Given the description of an element on the screen output the (x, y) to click on. 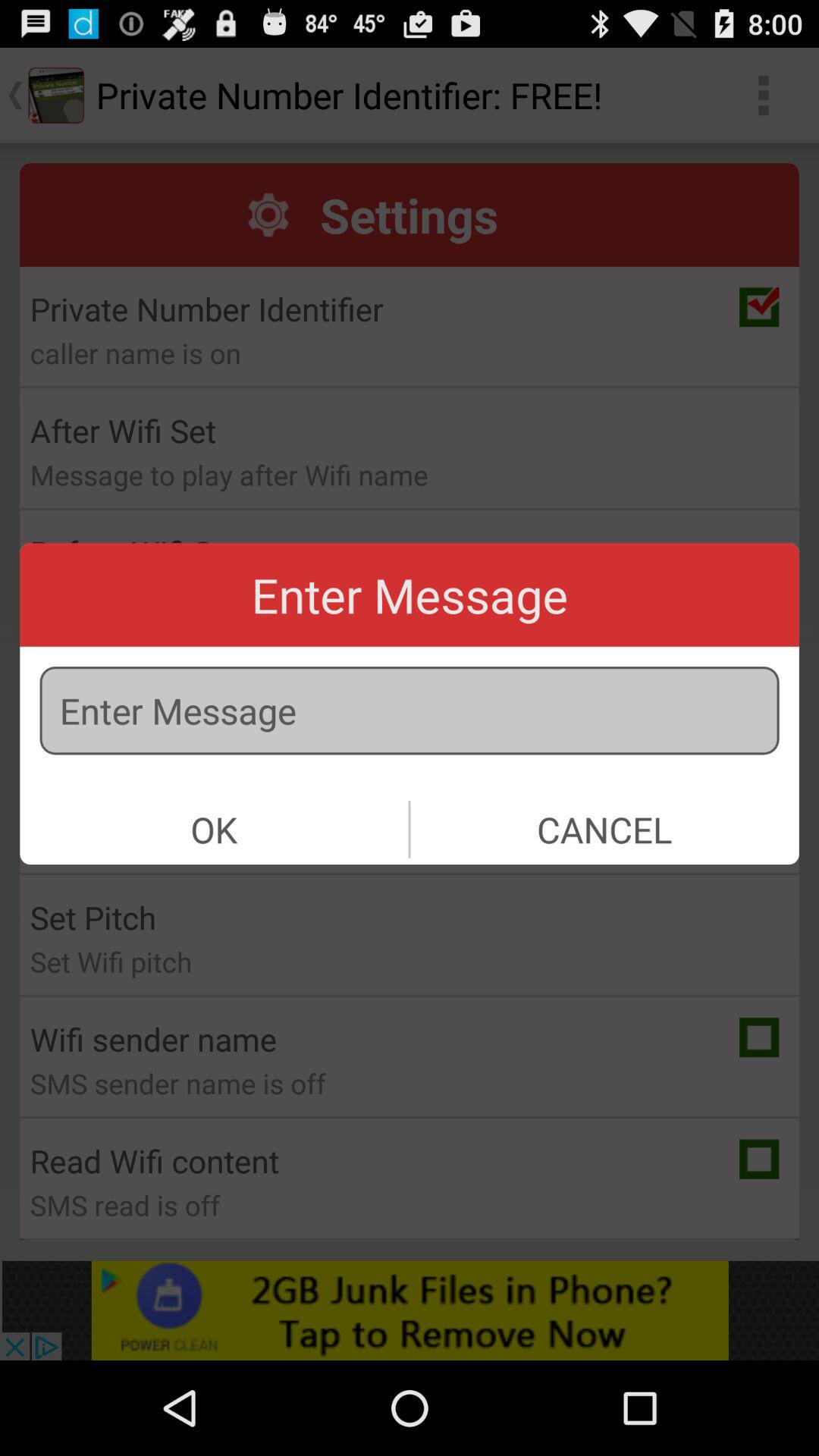
jump until the cancel button (604, 829)
